Given the description of an element on the screen output the (x, y) to click on. 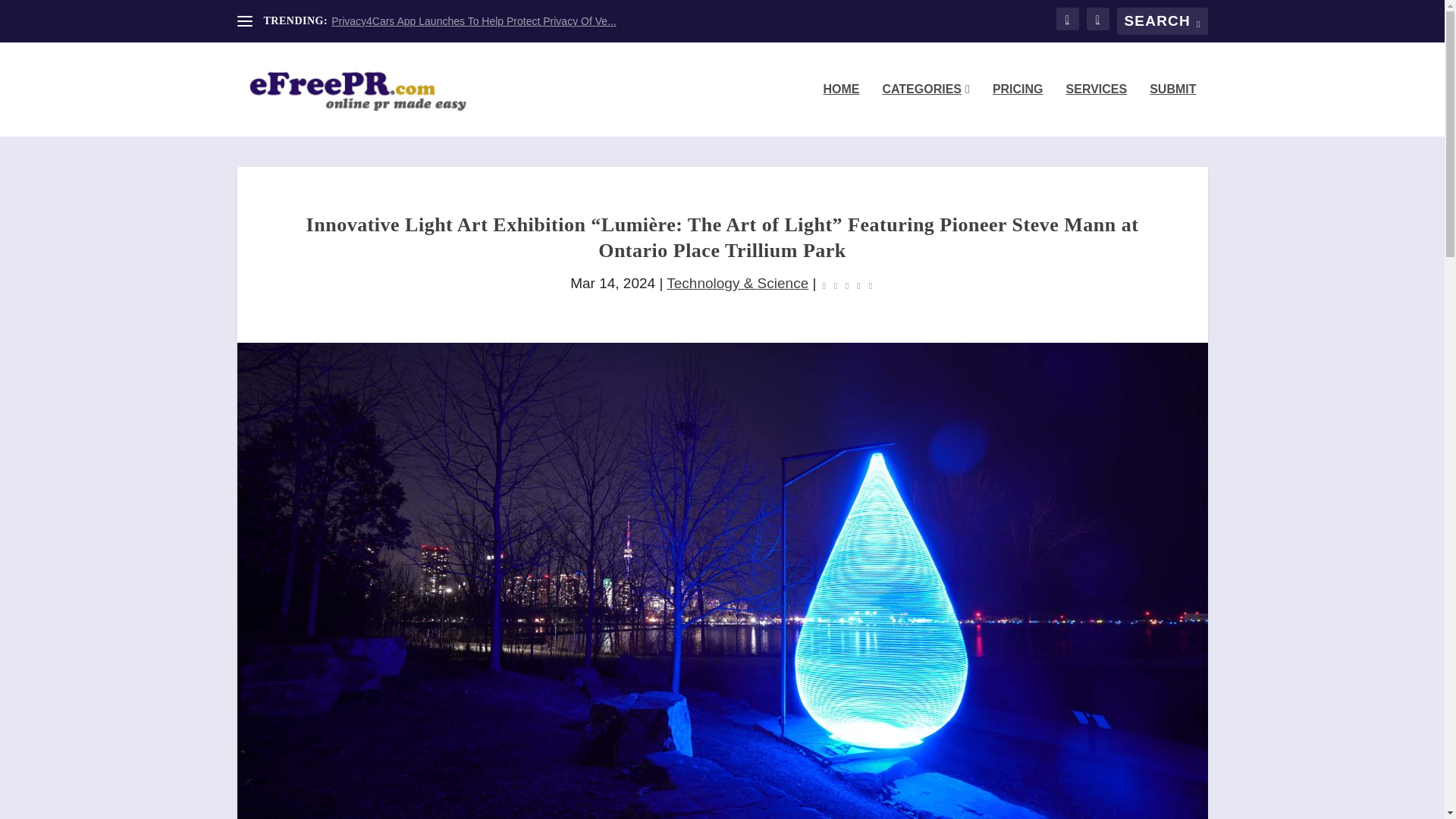
SERVICES (1095, 109)
Rating: 0.00 (848, 284)
CATEGORIES (925, 109)
Search for: (1161, 21)
Privacy4Cars App Launches To Help Protect Privacy Of Ve... (473, 21)
PRICING (1017, 109)
